Given the description of an element on the screen output the (x, y) to click on. 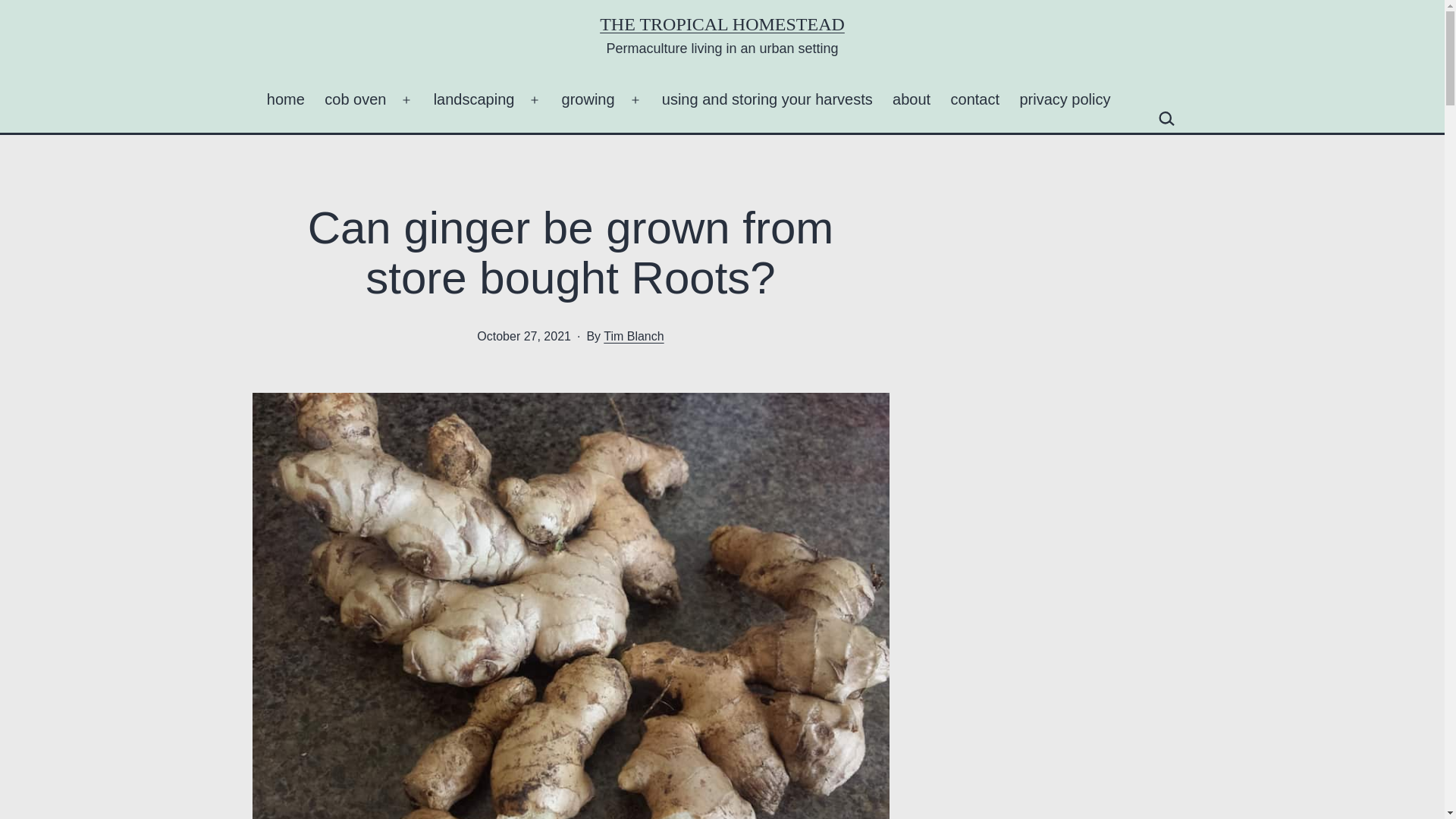
cob oven (355, 99)
Tim Blanch (633, 336)
contact (974, 99)
growing (587, 99)
THE TROPICAL HOMESTEAD (721, 24)
privacy policy (1064, 99)
landscaping (473, 99)
about (911, 99)
using and storing your harvests (767, 99)
home (285, 99)
